Given the description of an element on the screen output the (x, y) to click on. 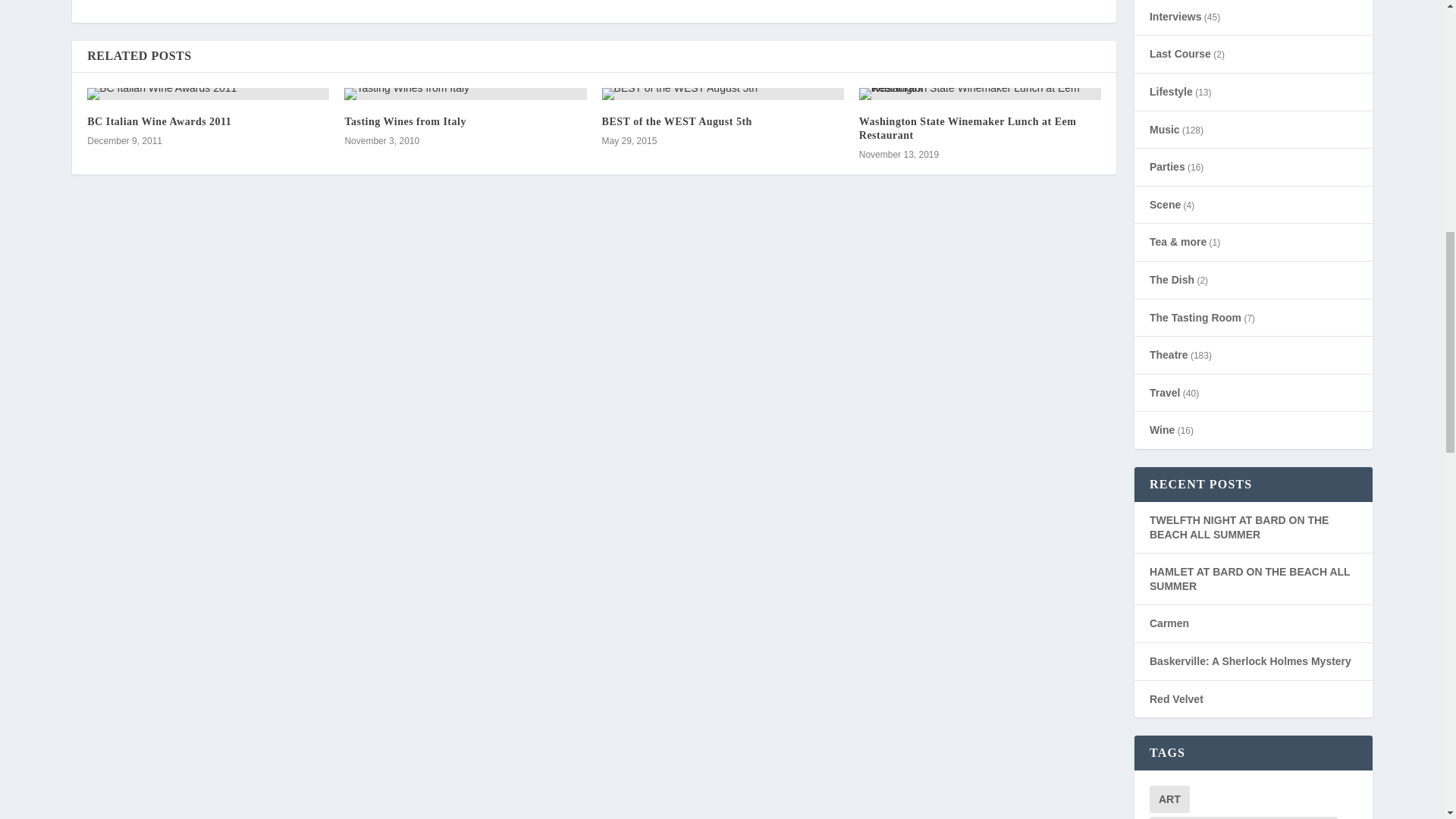
BEST of the WEST August 5th (677, 121)
Tasting Wines from Italy (464, 93)
Tasting Wines from Italy (404, 121)
BC Italian Wine Awards 2011 (208, 93)
Washington State Winemaker Lunch at Eem Restaurant (968, 128)
BC Italian Wine Awards 2011 (159, 121)
